Given the description of an element on the screen output the (x, y) to click on. 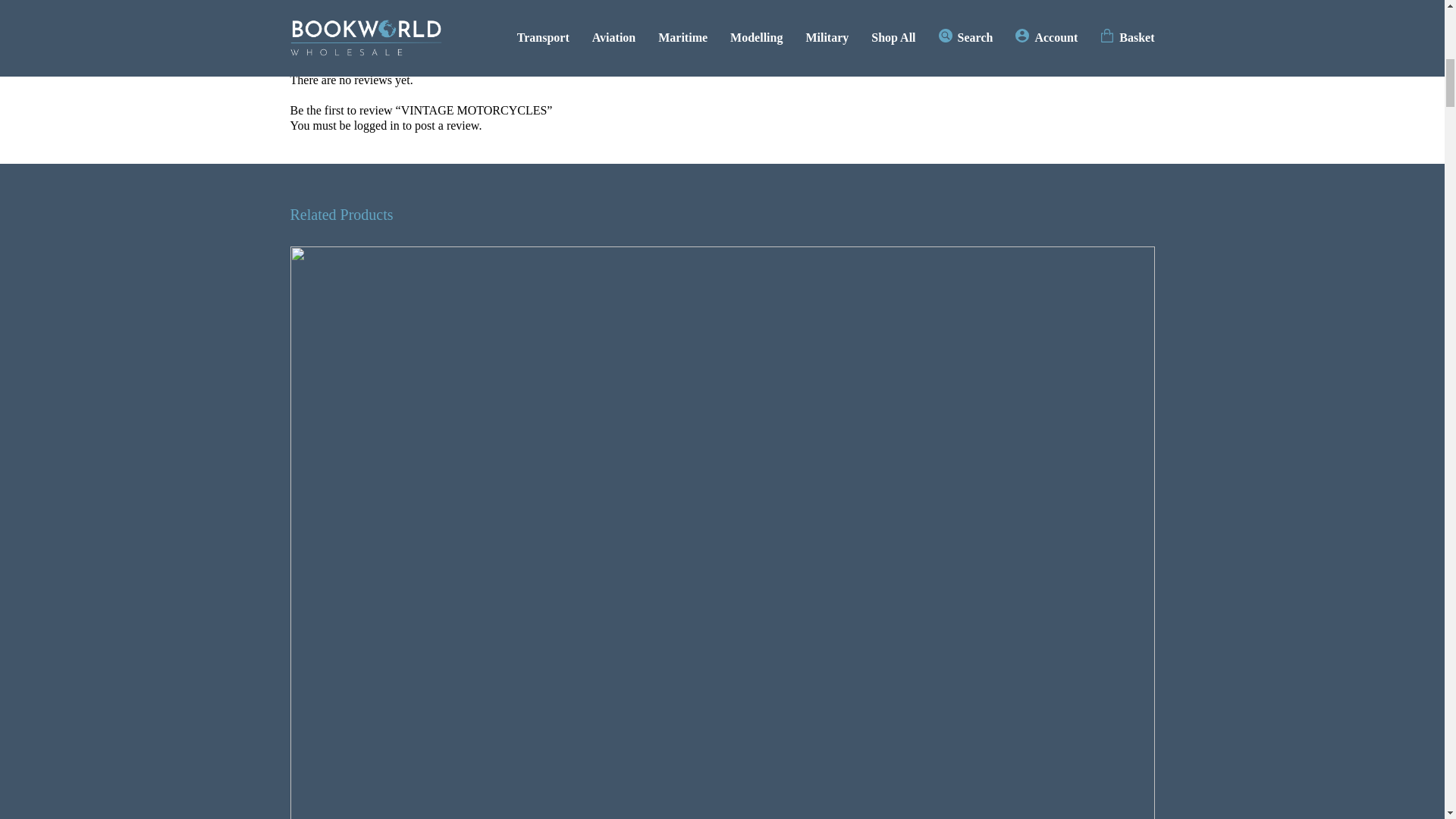
logged in (375, 125)
